Given the description of an element on the screen output the (x, y) to click on. 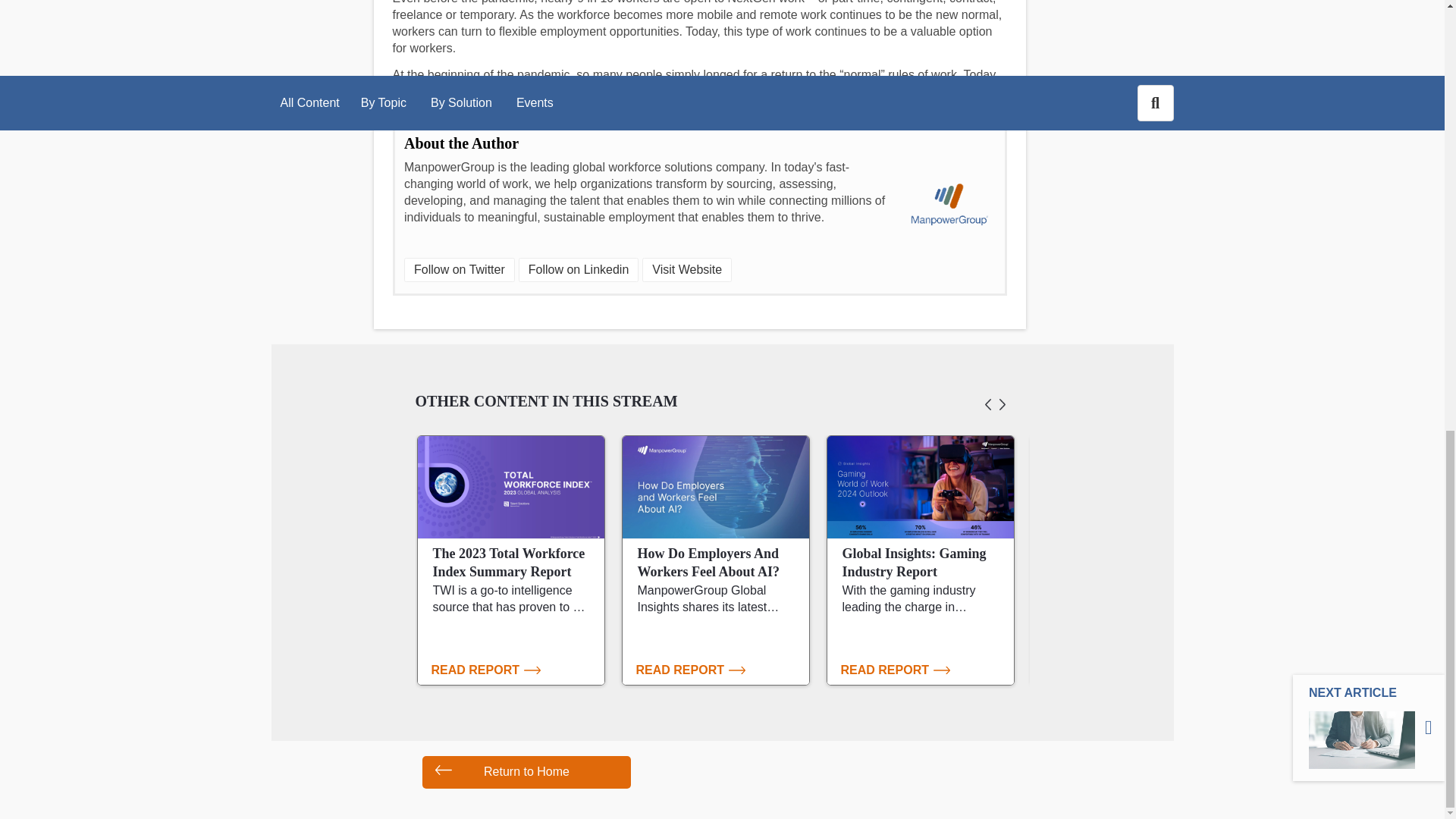
Follow on Twitter (459, 269)
Visit Website (687, 269)
Follow on Linkedin (578, 269)
